Given the description of an element on the screen output the (x, y) to click on. 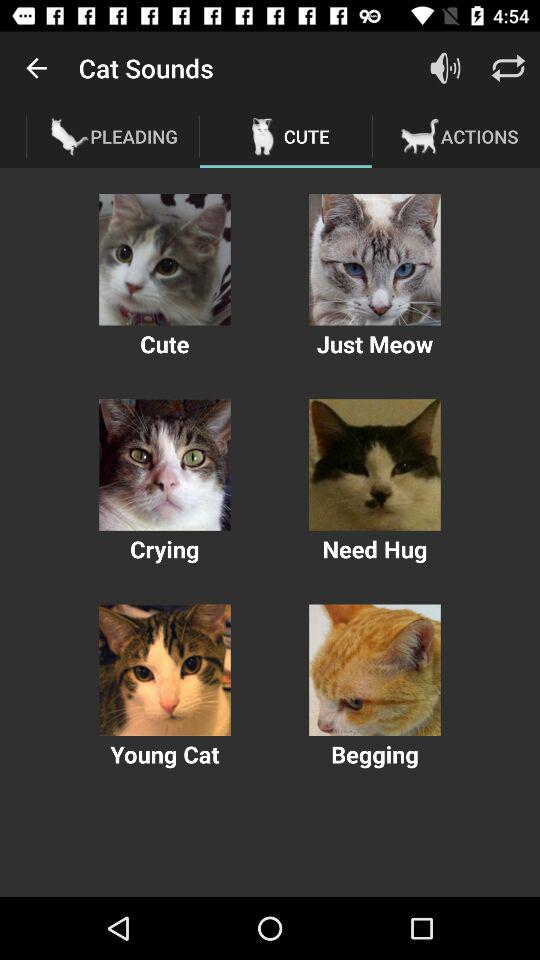
play crying cat sound (164, 464)
